Given the description of an element on the screen output the (x, y) to click on. 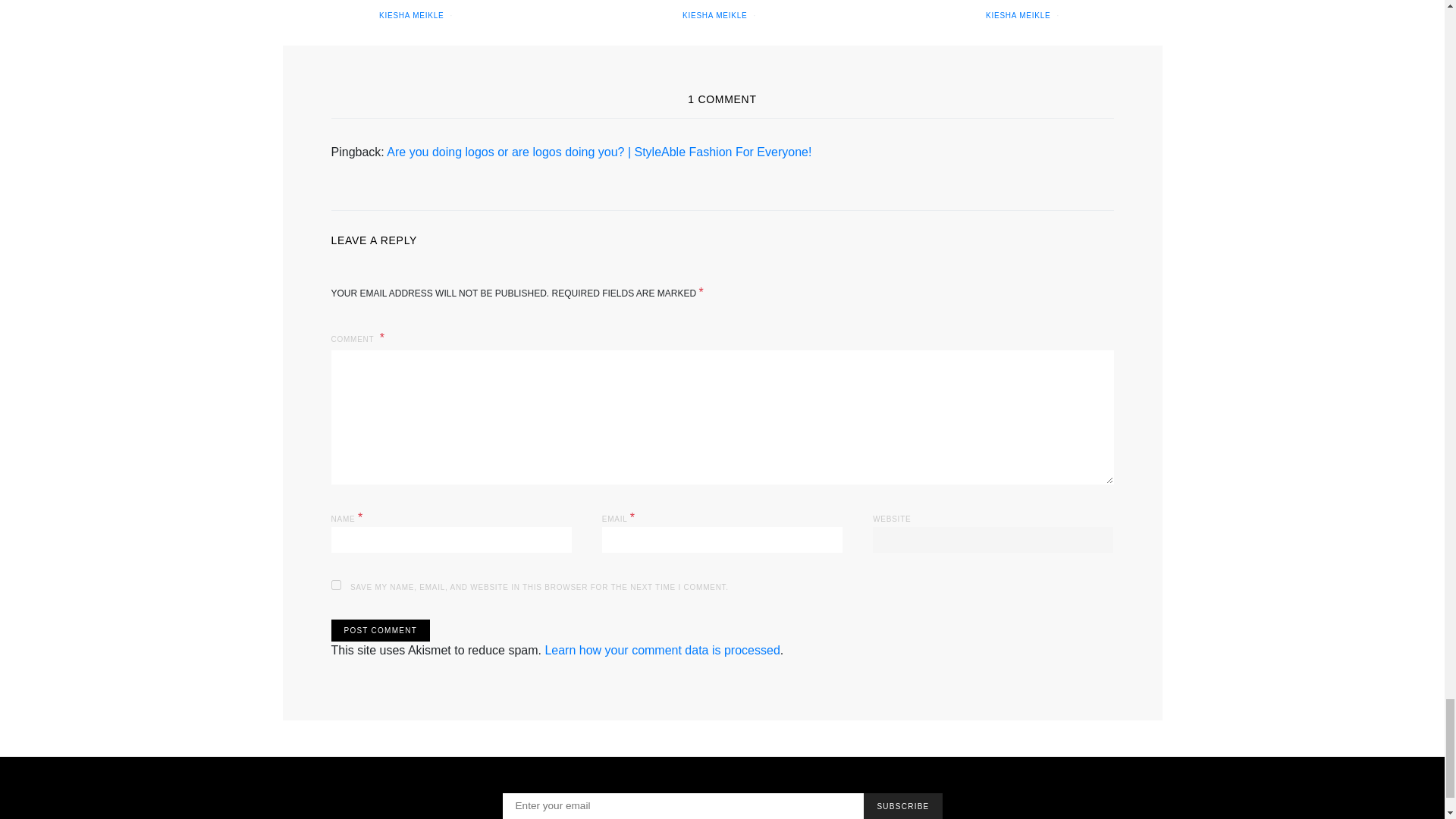
View all posts by Kiesha Meikle (411, 15)
View all posts by Kiesha Meikle (1017, 15)
View all posts by Kiesha Meikle (714, 15)
Post Comment (379, 630)
yes (335, 584)
